Given the description of an element on the screen output the (x, y) to click on. 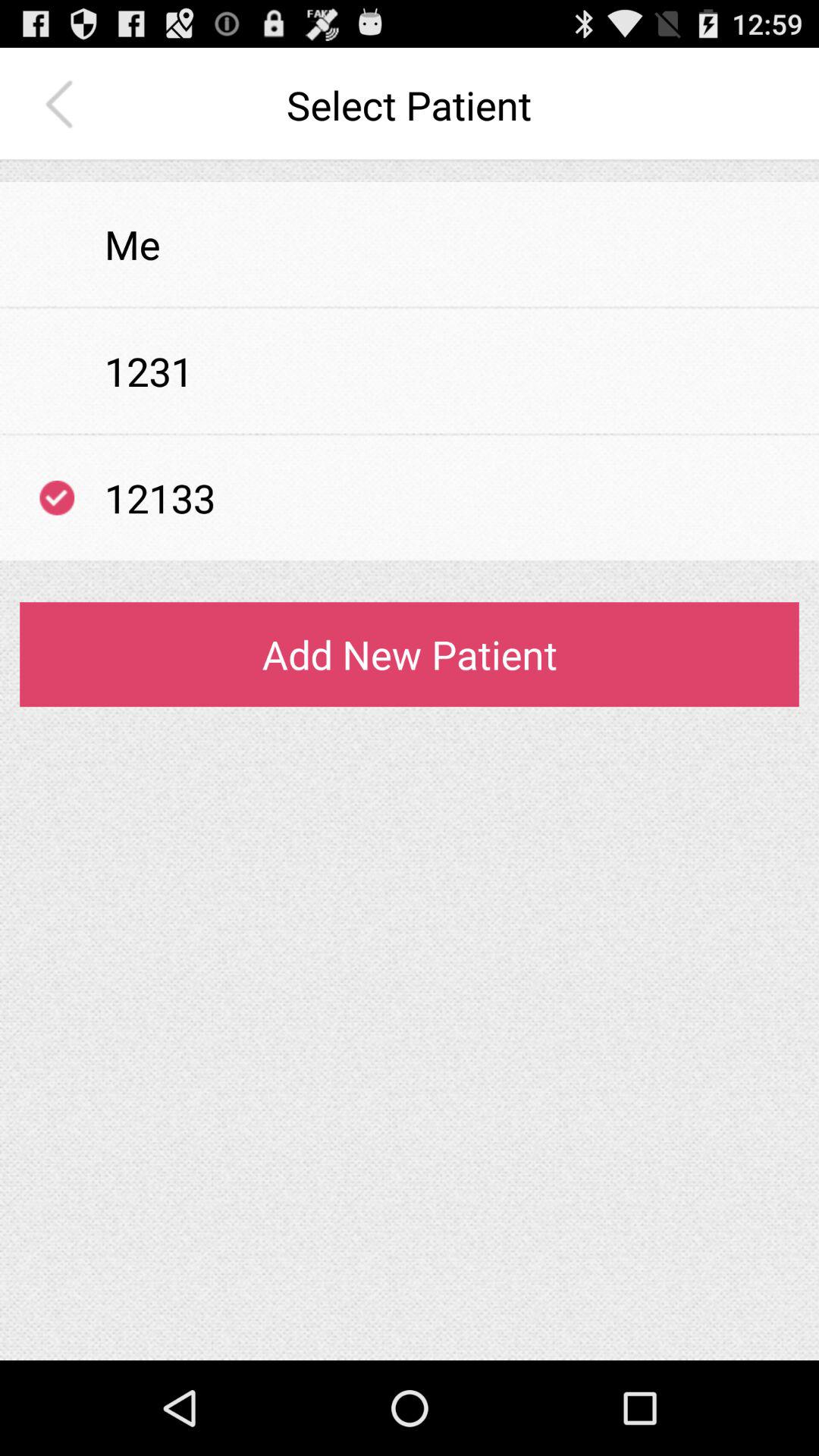
choose icon above 1231 app (409, 307)
